Given the description of an element on the screen output the (x, y) to click on. 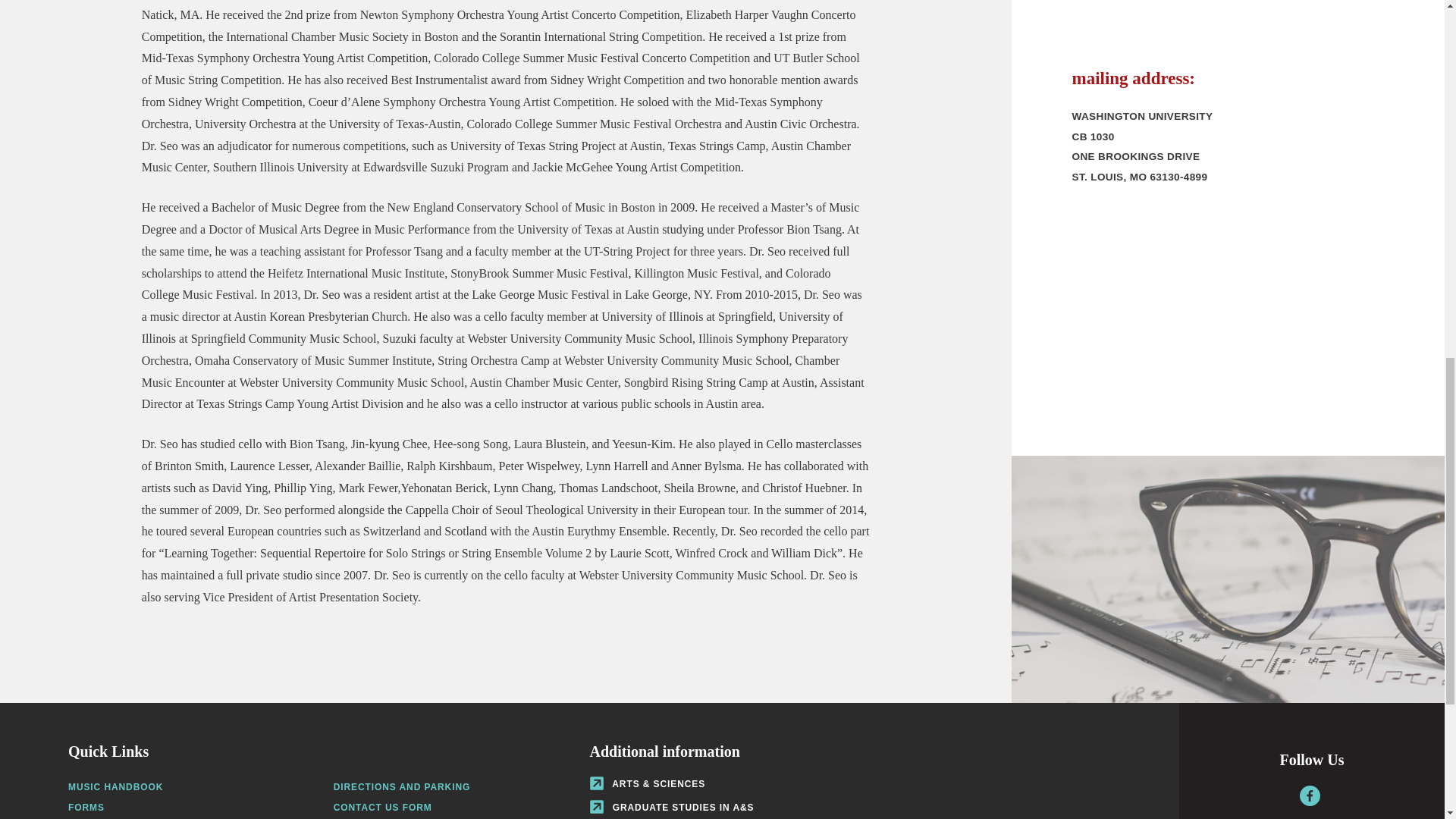
DIRECTIONS AND PARKING (401, 787)
FORMS (86, 807)
CONTACT US FORM (382, 807)
MUSIC HANDBOOK (115, 787)
Facebook (1310, 795)
